Given the description of an element on the screen output the (x, y) to click on. 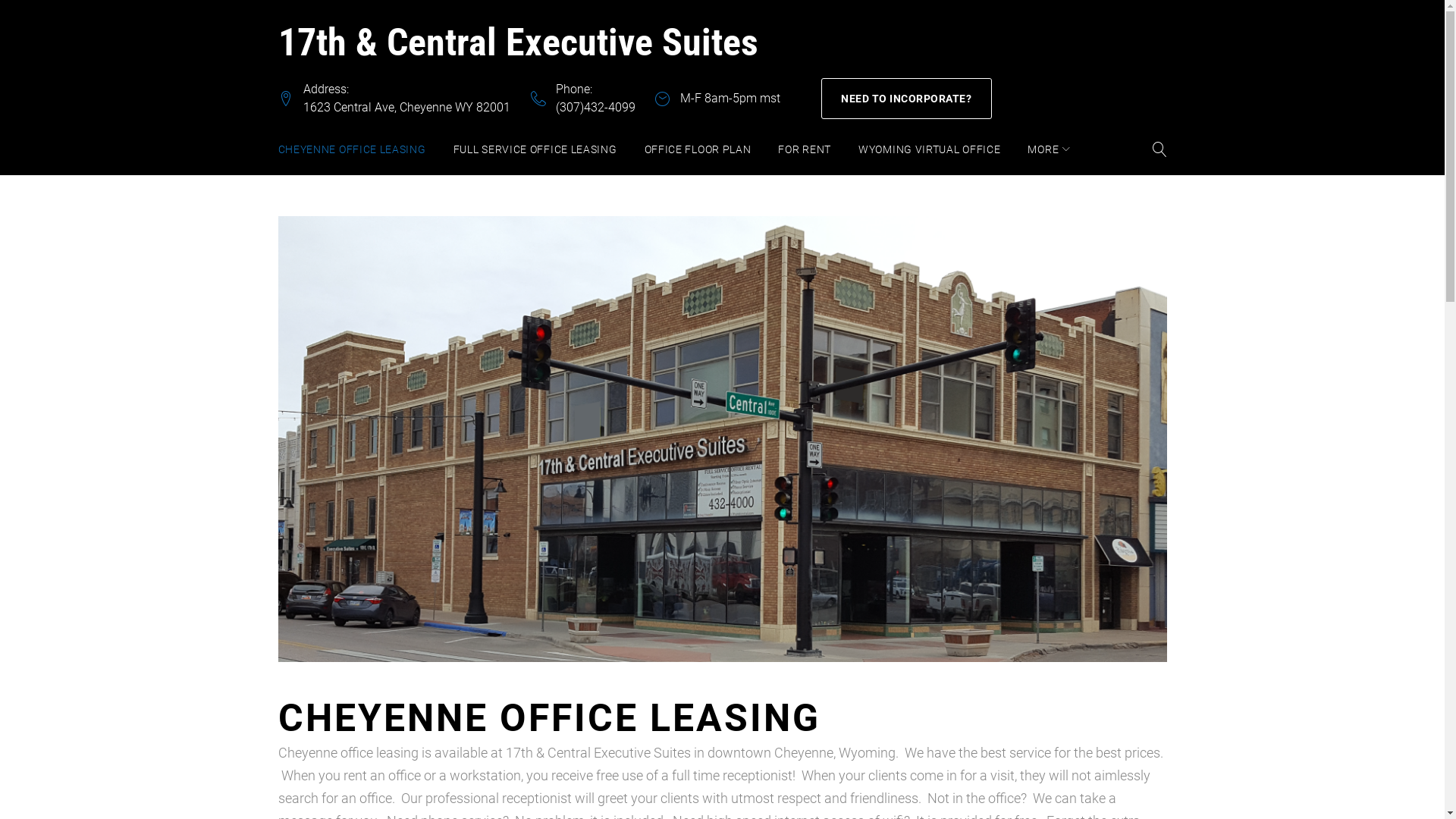
FULL SERVICE OFFICE LEASING Element type: text (535, 148)
WYOMING VIRTUAL OFFICE Element type: text (929, 148)
17th & Central Executive Suites Element type: text (517, 42)
MORE Element type: text (1048, 148)
NEED TO INCORPORATE? Element type: text (905, 97)
(307)432-4099 Element type: text (594, 107)
CHEYENNE OFFICE LEASING Element type: text (351, 148)
Skip to content Element type: text (0, 0)
FOR RENT Element type: text (804, 148)
OFFICE FLOOR PLAN Element type: text (697, 148)
